Given the description of an element on the screen output the (x, y) to click on. 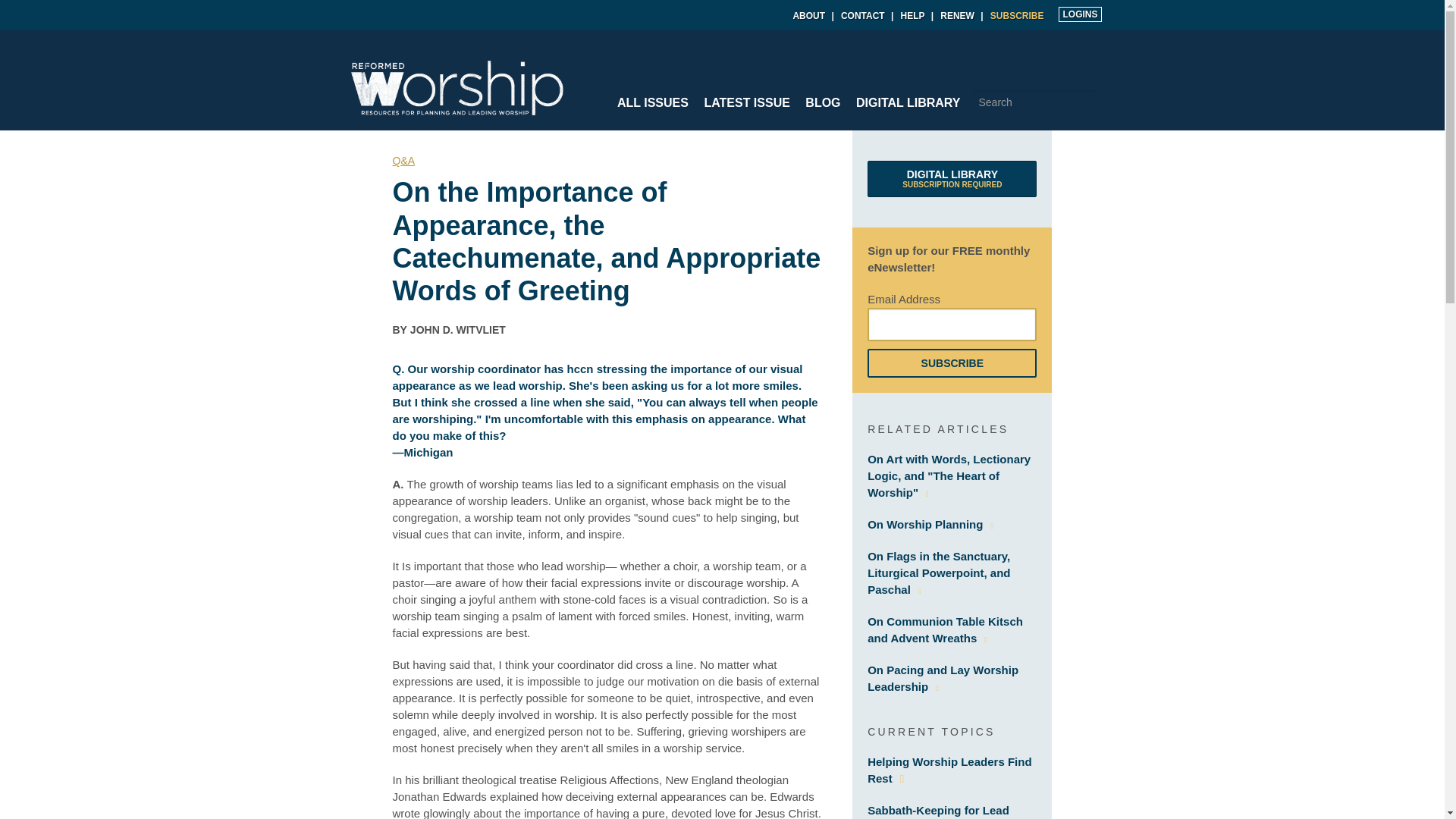
SUBSCRIBE (951, 178)
RENEW (1016, 15)
On Pacing and Lay Worship Leadership (957, 15)
Search (942, 677)
On Communion Table Kitsch and Advent Wreaths (1082, 101)
ABOUT (945, 629)
On Worship Planning (808, 15)
ALL ISSUES (929, 523)
Sabbath-Keeping for Lead Worshipers (652, 102)
